Given the description of an element on the screen output the (x, y) to click on. 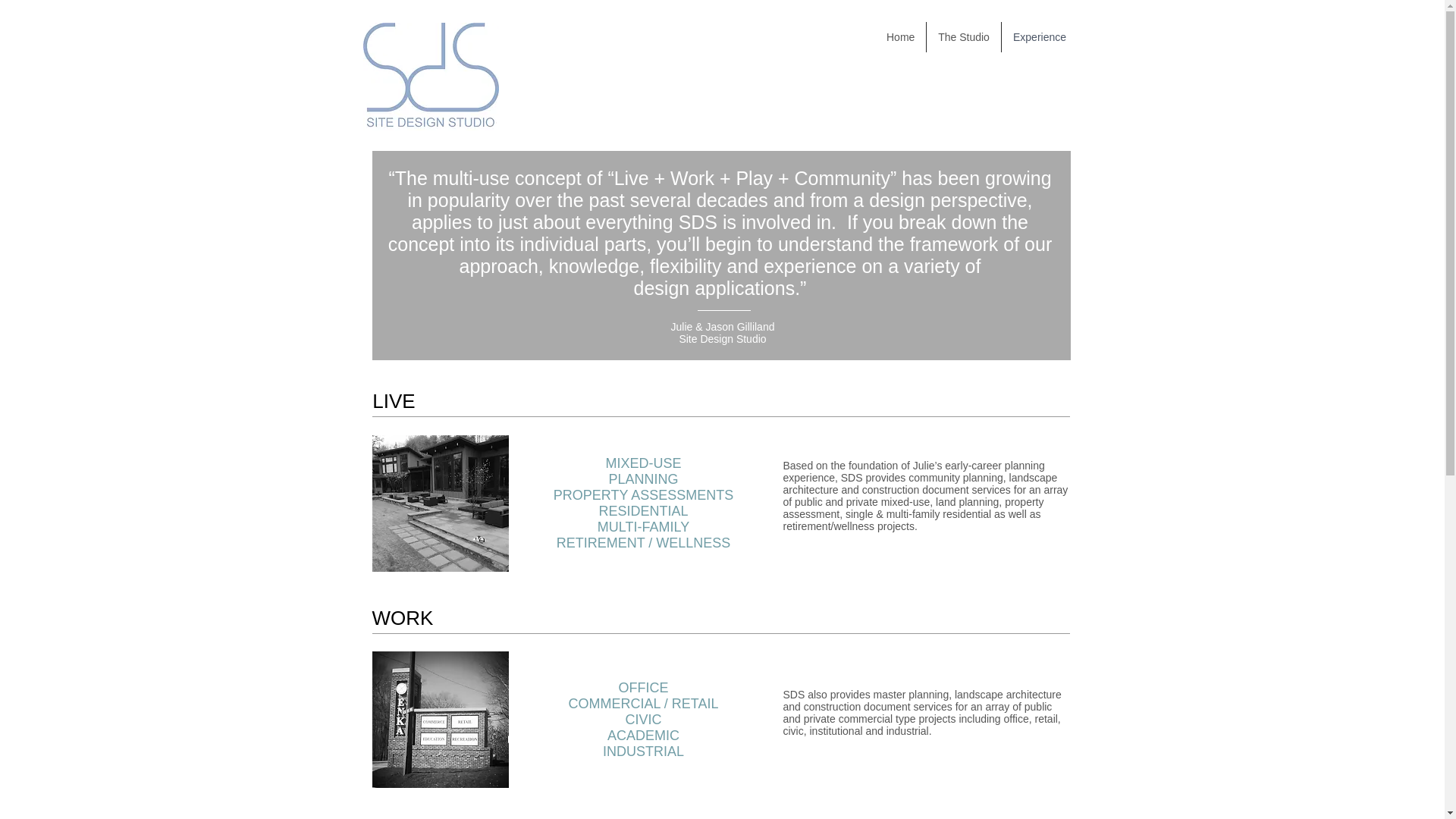
Experience (1039, 37)
The Studio (963, 37)
LIVE (392, 400)
Home (900, 37)
WORK (401, 617)
Enka Sign.jpg (439, 719)
